Given the description of an element on the screen output the (x, y) to click on. 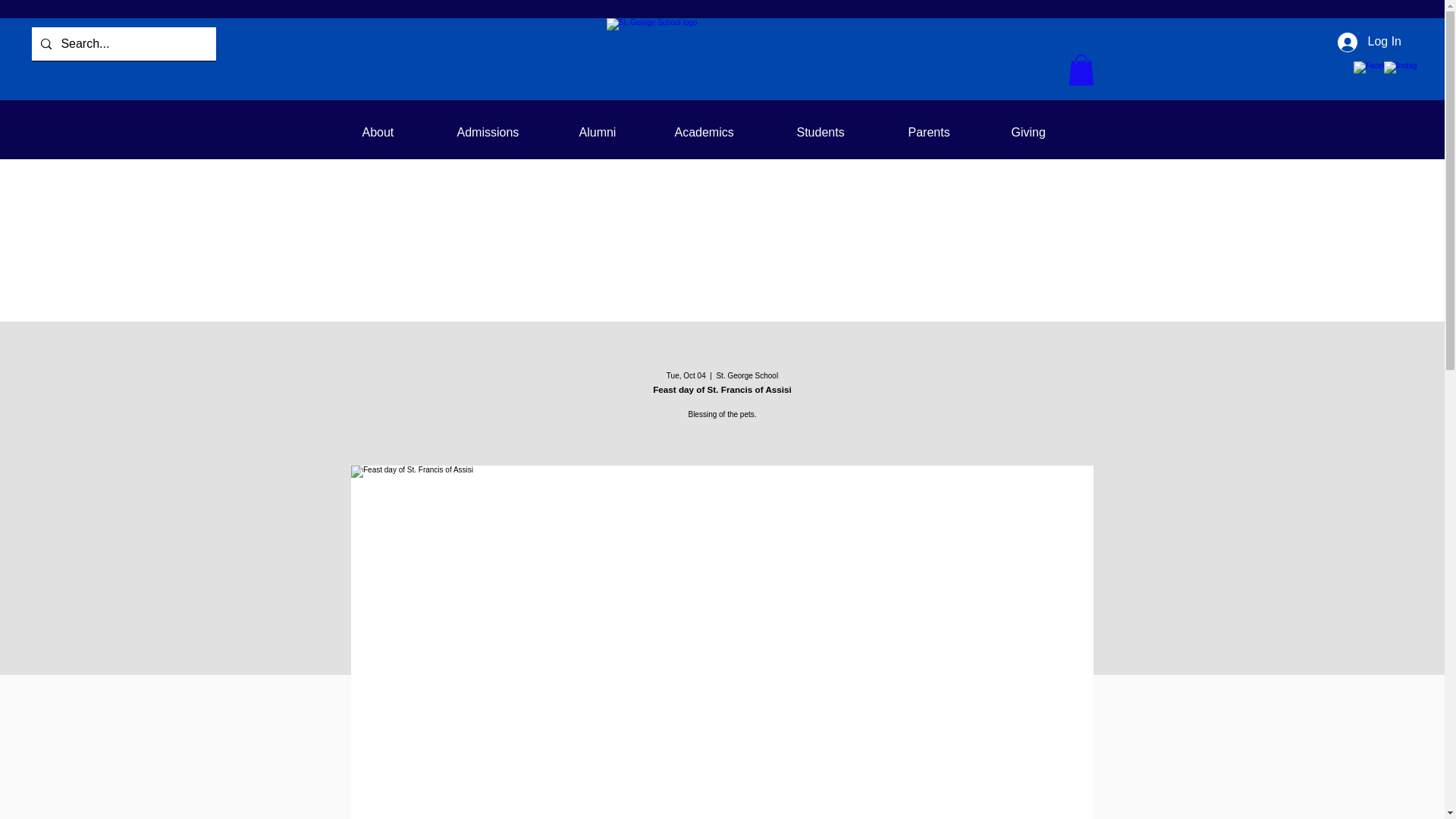
Admissions (506, 132)
Giving (1045, 132)
Academics (723, 132)
Students (841, 132)
Log In (1369, 41)
Parents (947, 132)
Alumni (614, 132)
About (397, 132)
